Given the description of an element on the screen output the (x, y) to click on. 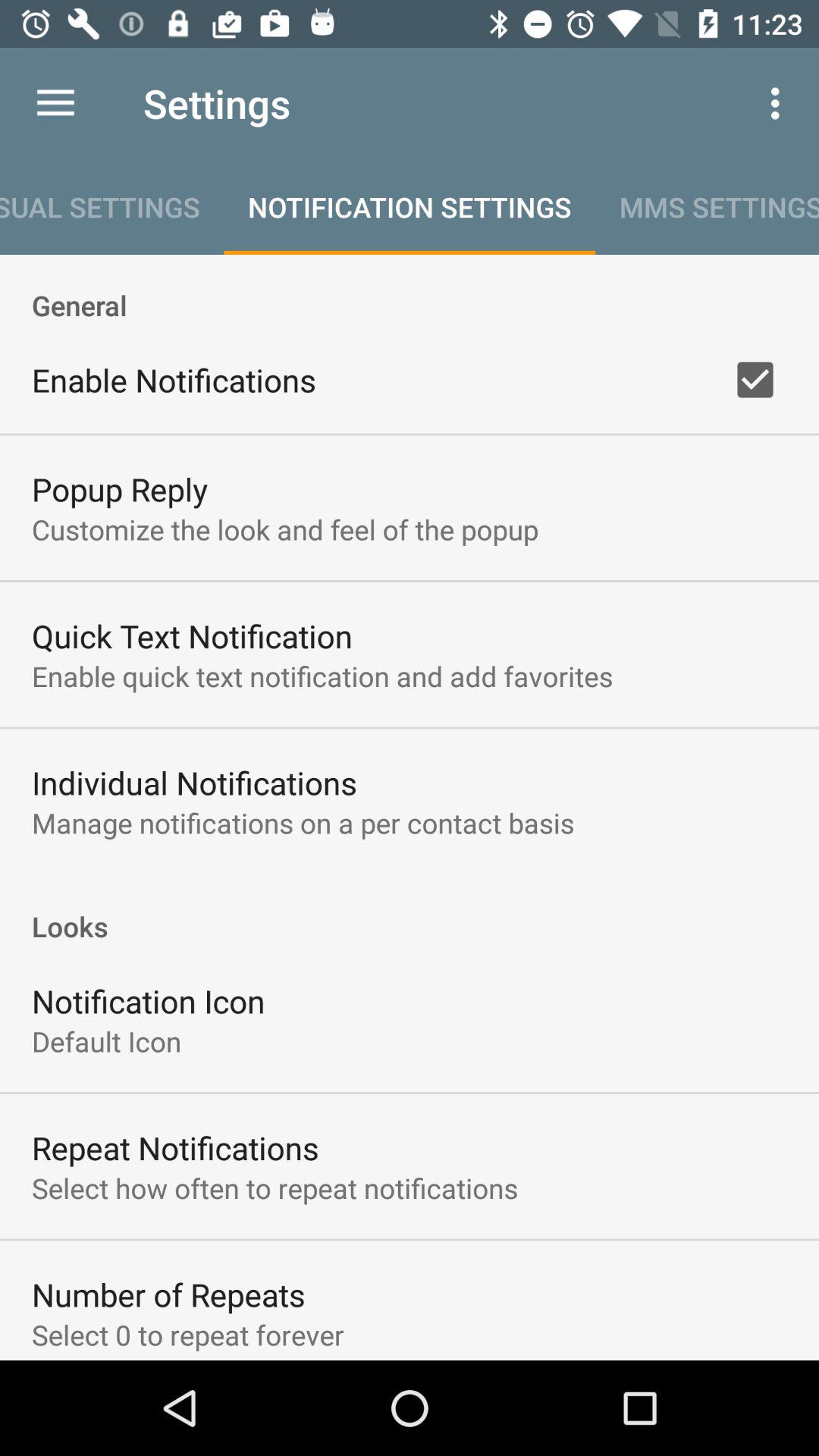
press the item to the right of settings icon (779, 103)
